Given the description of an element on the screen output the (x, y) to click on. 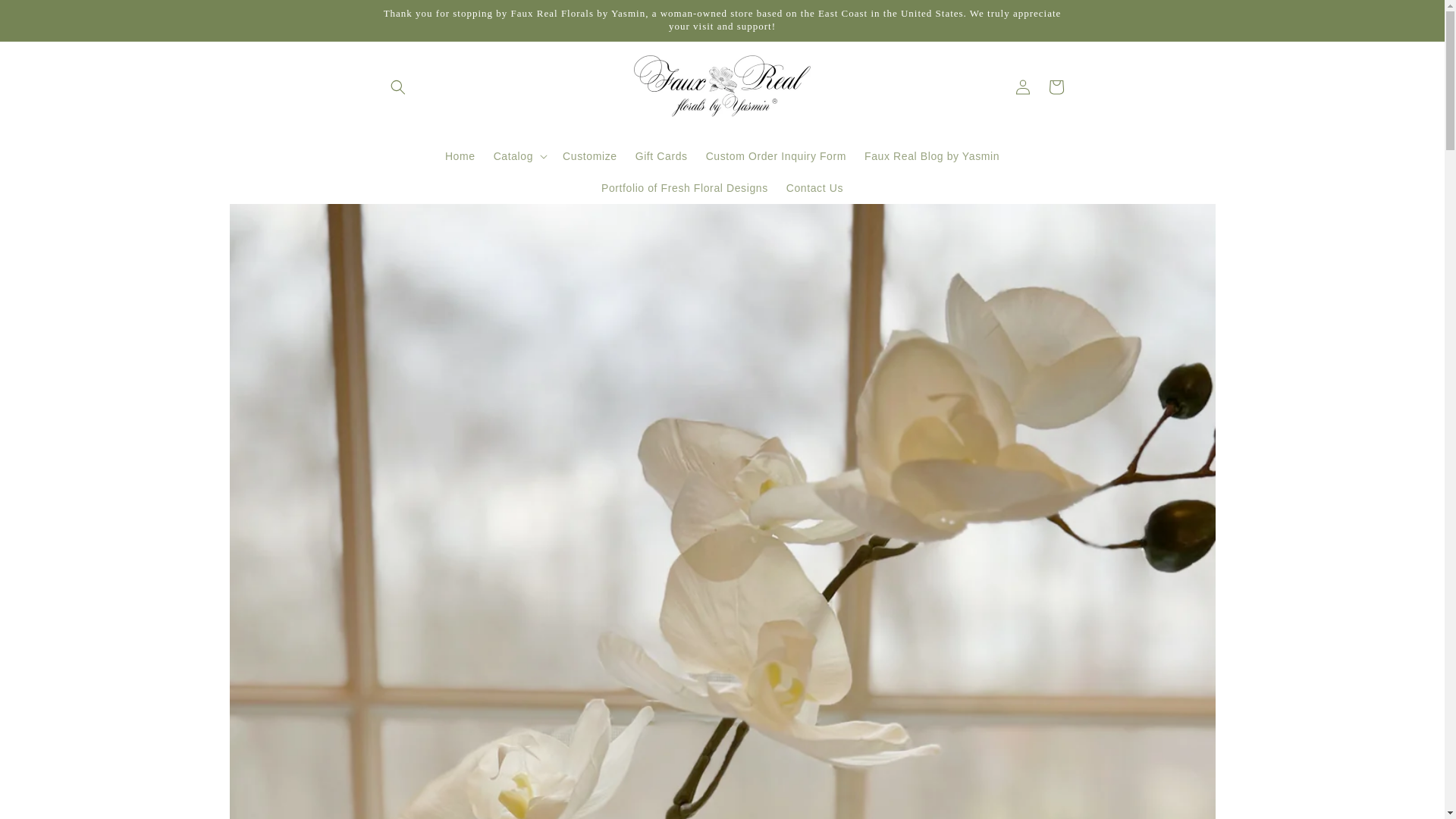
Skip to content (46, 18)
Home (459, 155)
